Given the description of an element on the screen output the (x, y) to click on. 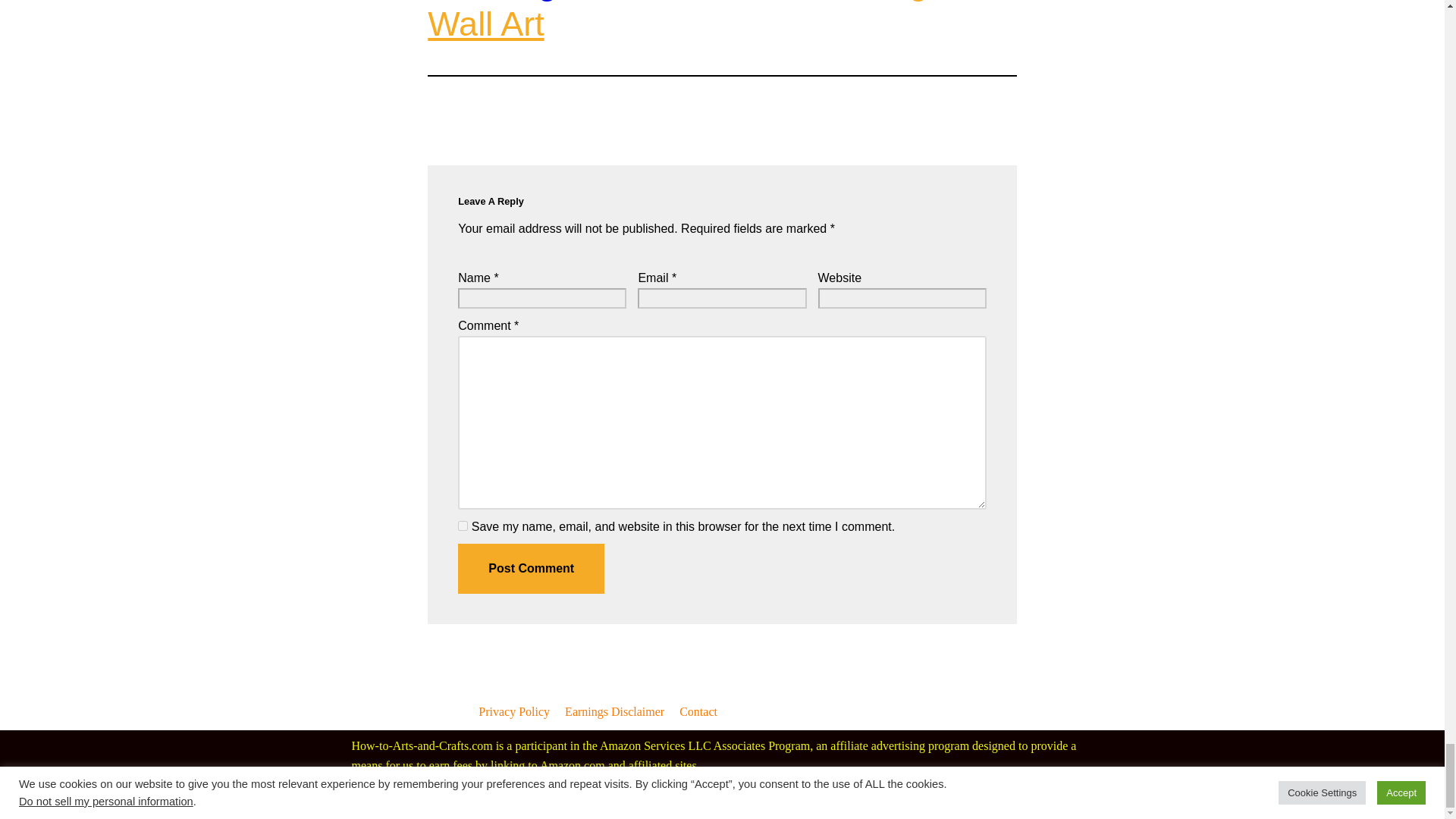
yes (462, 525)
Post Comment (531, 568)
